Given the description of an element on the screen output the (x, y) to click on. 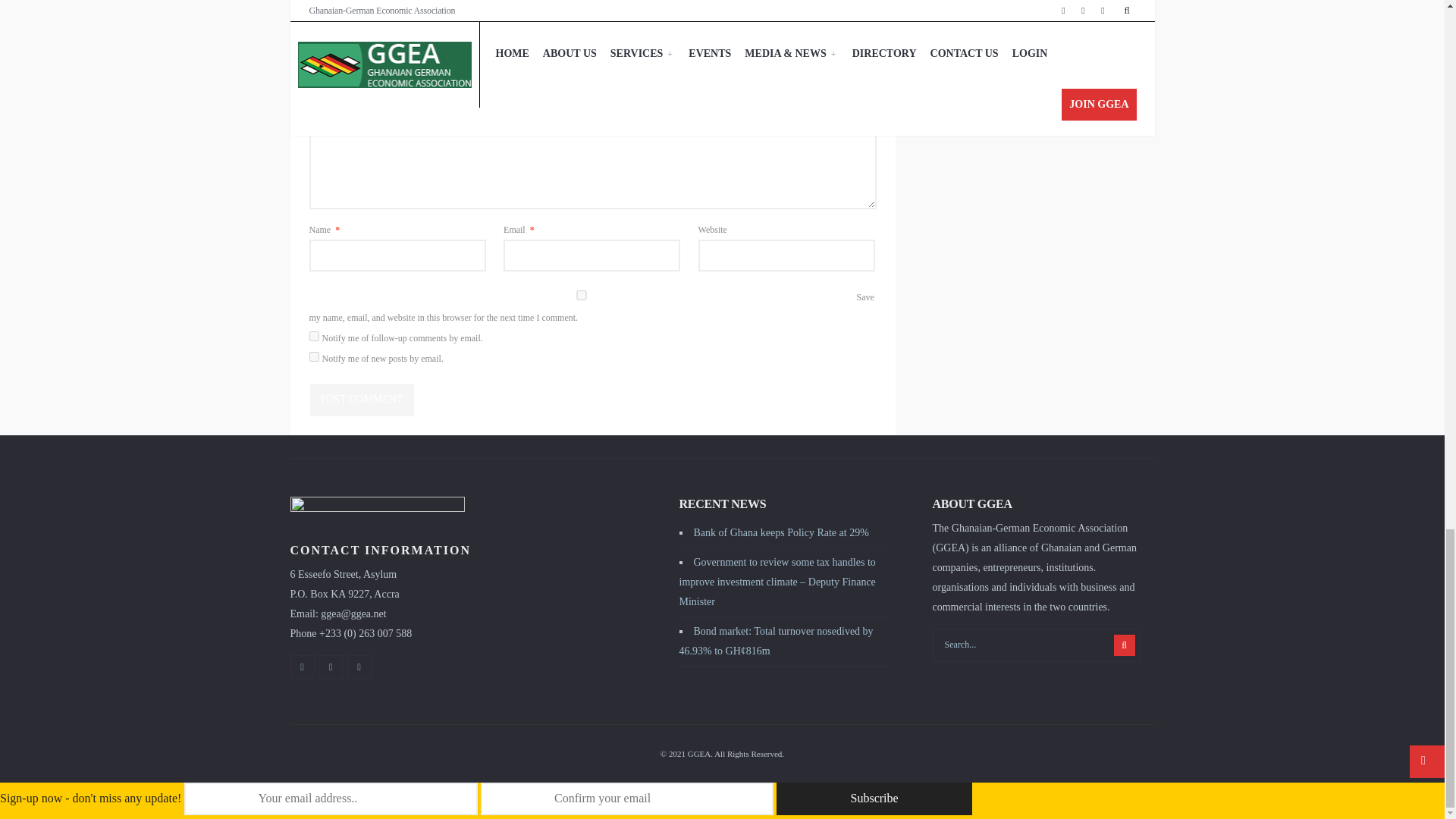
Post Comment (360, 399)
Facebook (301, 667)
subscribe (313, 356)
Post Comment (360, 399)
Search... (1037, 644)
LinkedIn (359, 667)
Subscribe (874, 798)
yes (580, 295)
subscribe (313, 336)
Twitter (330, 667)
